Given the description of an element on the screen output the (x, y) to click on. 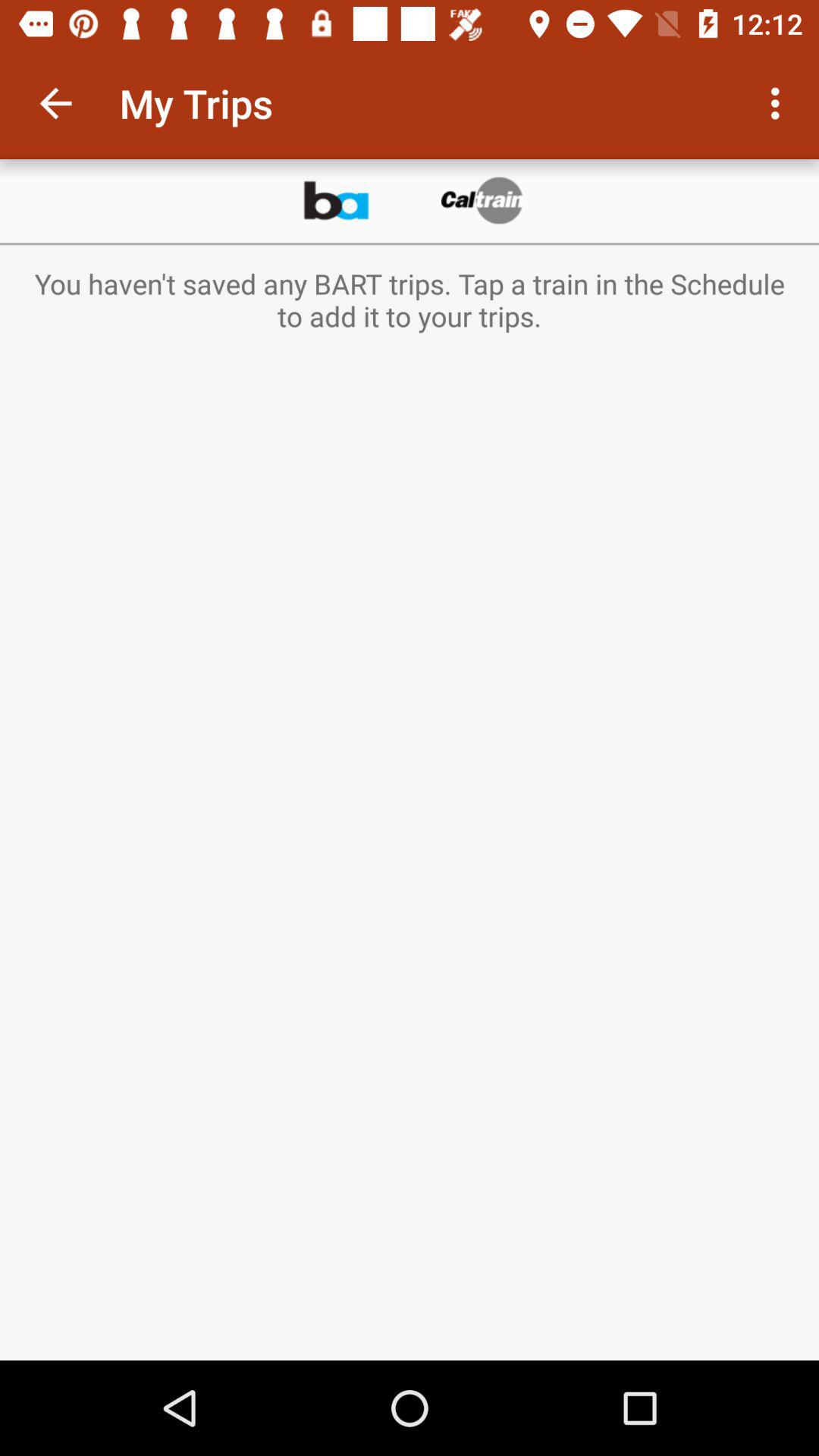
open caltrain (482, 200)
